Given the description of an element on the screen output the (x, y) to click on. 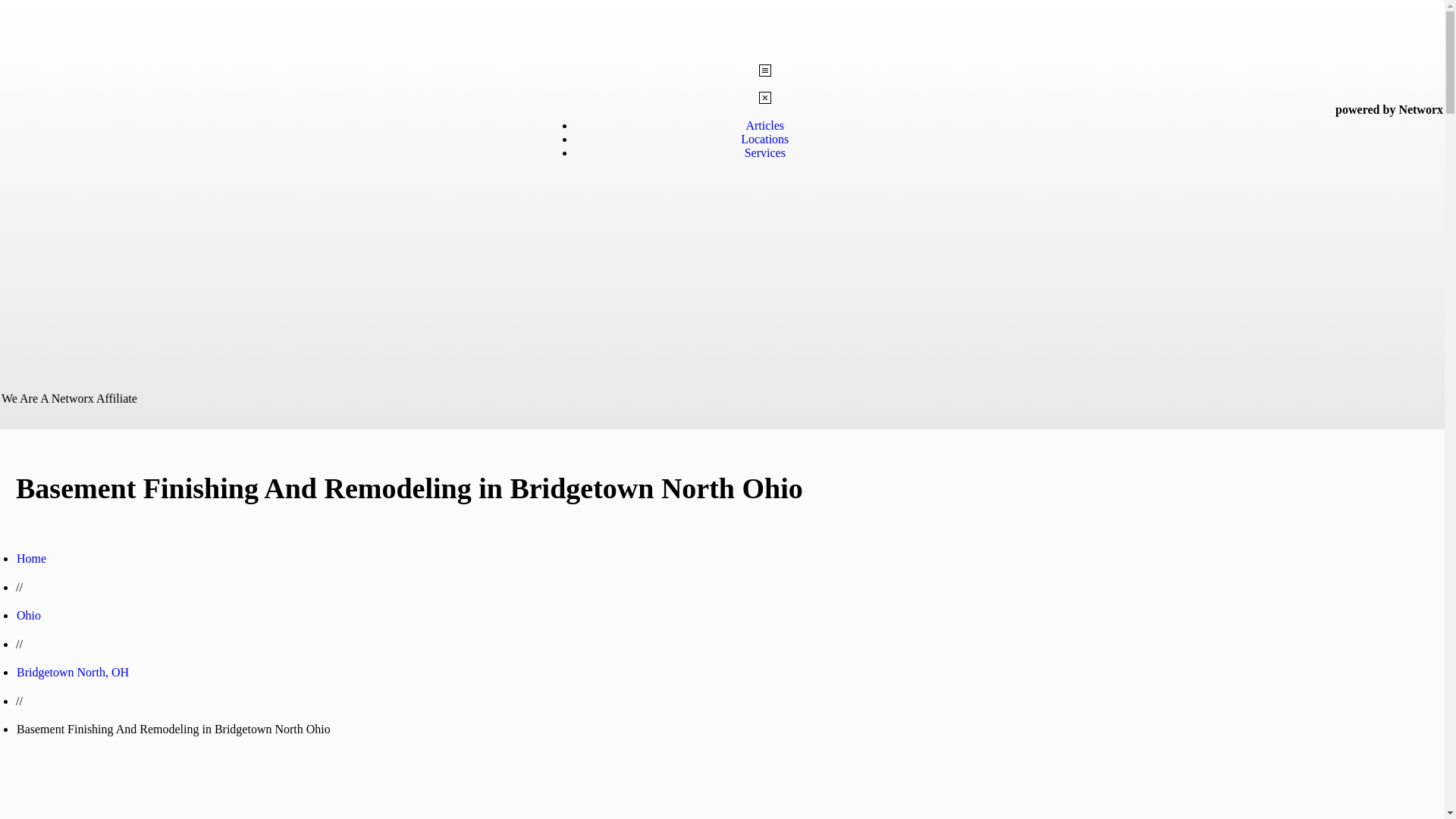
Home (31, 558)
Locations (765, 138)
Articles (764, 124)
Ohio (28, 615)
Services (765, 152)
Bridgetown North, OH (72, 671)
